Given the description of an element on the screen output the (x, y) to click on. 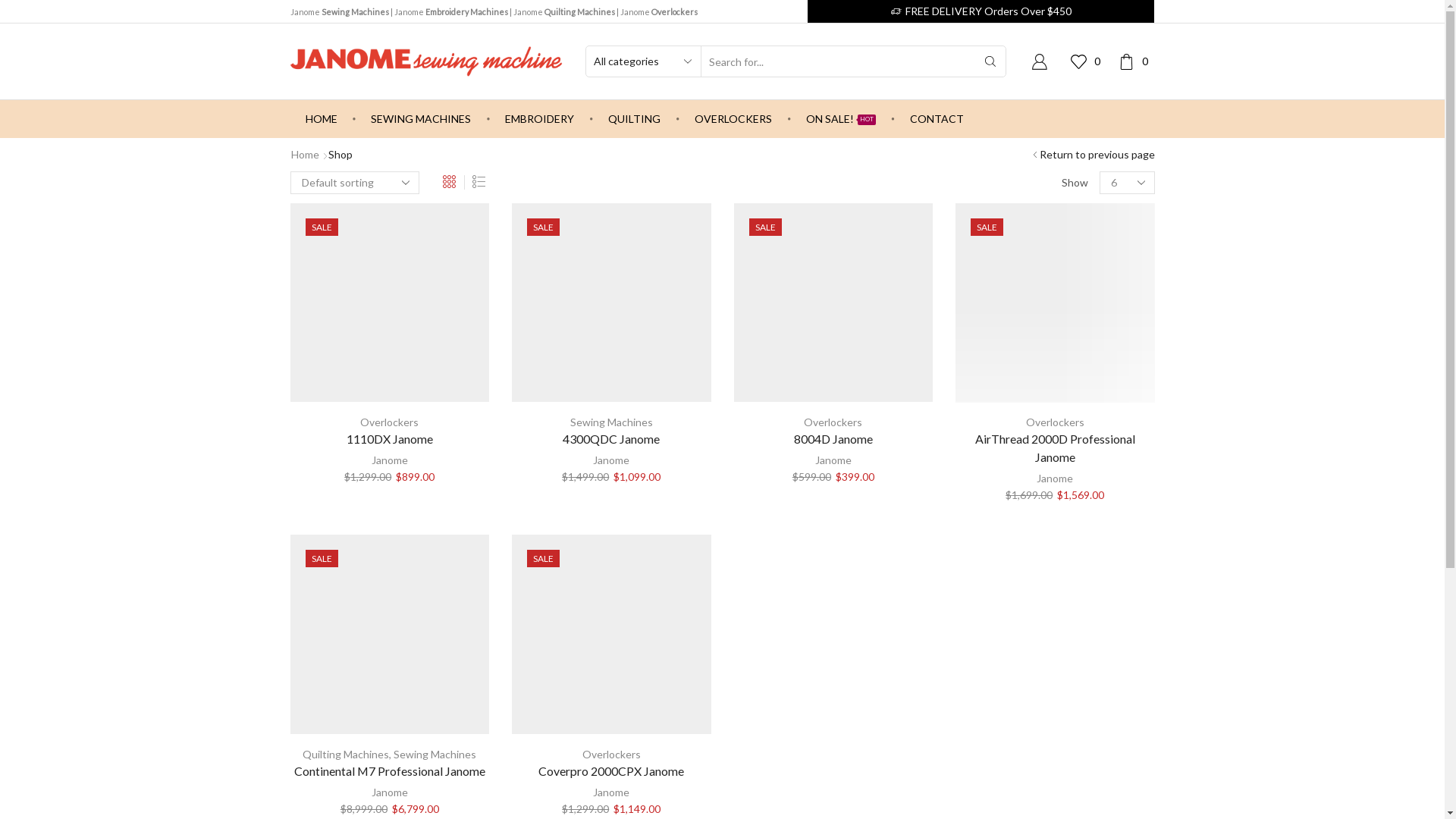
Continental M7 Professional Janome Element type: text (389, 771)
QUILTING Element type: text (634, 119)
Quilting Machines Element type: text (345, 753)
Sewing Machines Element type: text (434, 753)
Janome Quilting Machines Element type: text (563, 11)
Overlockers Element type: text (832, 421)
SEWING MACHINES Element type: text (420, 119)
1110DX Janome Element type: text (389, 438)
Overlockers Element type: text (611, 753)
EMBROIDERY Element type: text (539, 119)
Janome Element type: text (1054, 477)
OVERLOCKERS Element type: text (733, 119)
Home Element type: text (304, 154)
Janome Element type: text (611, 459)
AirThread 2000D Professional Janome Element type: text (1054, 447)
Janome Overlockers Element type: text (658, 11)
Janome Element type: text (389, 459)
CONTACT Element type: text (936, 119)
ON SALE!HOT Element type: text (840, 119)
Janome Embroidery Machines Element type: text (451, 11)
0 Element type: text (1088, 60)
4300QDC Janome Element type: text (611, 438)
Sewing Machines Element type: text (611, 421)
Return to previous page Element type: text (1096, 154)
Log in Element type: text (932, 306)
Overlockers Element type: text (389, 421)
HOME Element type: text (320, 119)
Janome Element type: text (389, 791)
0 Element type: text (1136, 60)
Janome Sewing Machines Element type: text (338, 11)
Janome Element type: text (833, 459)
Overlockers Element type: text (1055, 421)
Coverpro 2000CPX Janome Element type: text (611, 771)
Janome Element type: text (611, 791)
8004D Janome Element type: text (833, 438)
